Given the description of an element on the screen output the (x, y) to click on. 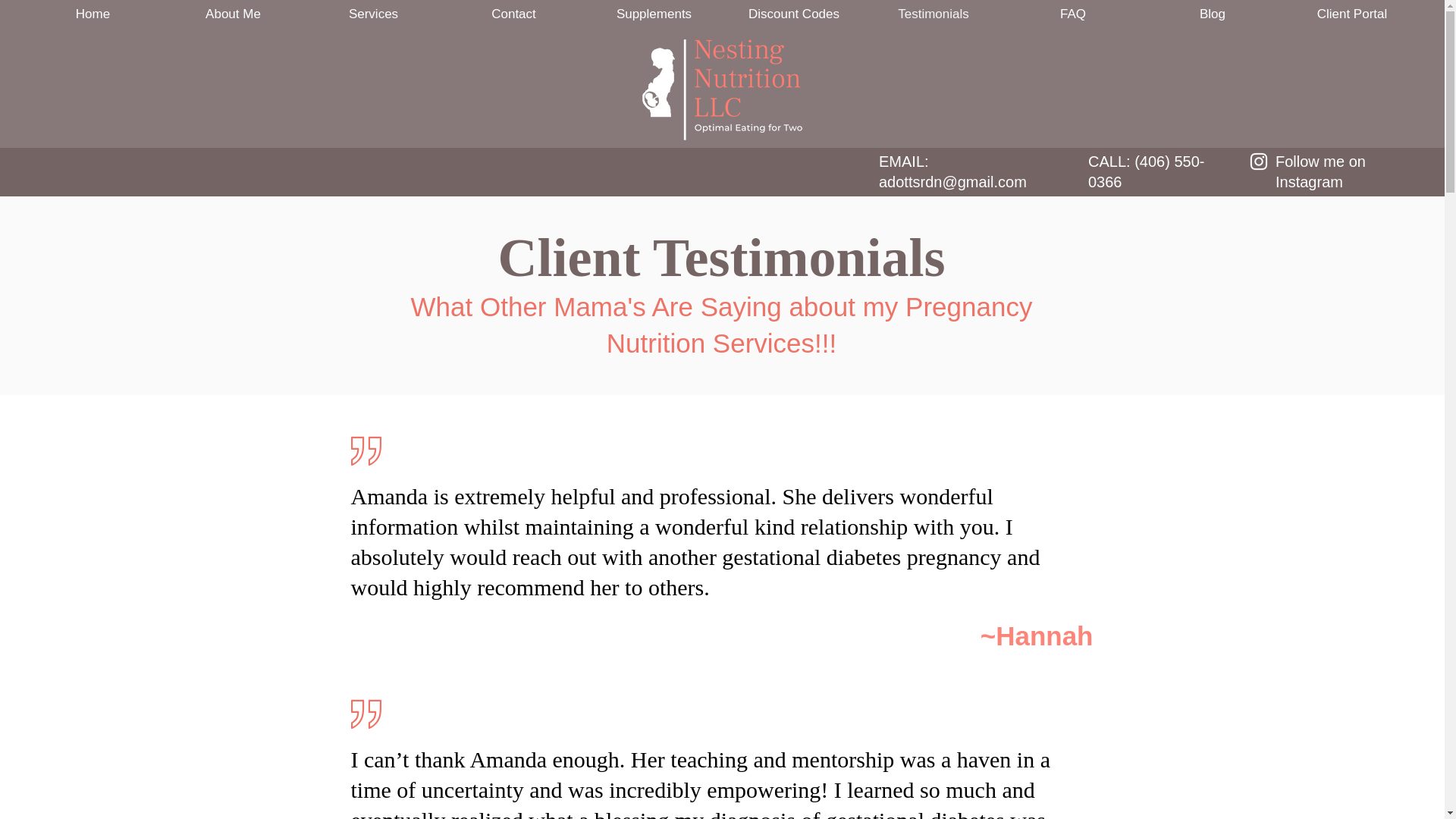
FAQ (1072, 14)
Supplements (653, 14)
About Me (232, 14)
Contact (513, 14)
CALL:  (1110, 161)
Client Portal (1352, 14)
Testimonials (933, 14)
Discount Codes (793, 14)
Home (93, 14)
Blog (1212, 14)
